Given the description of an element on the screen output the (x, y) to click on. 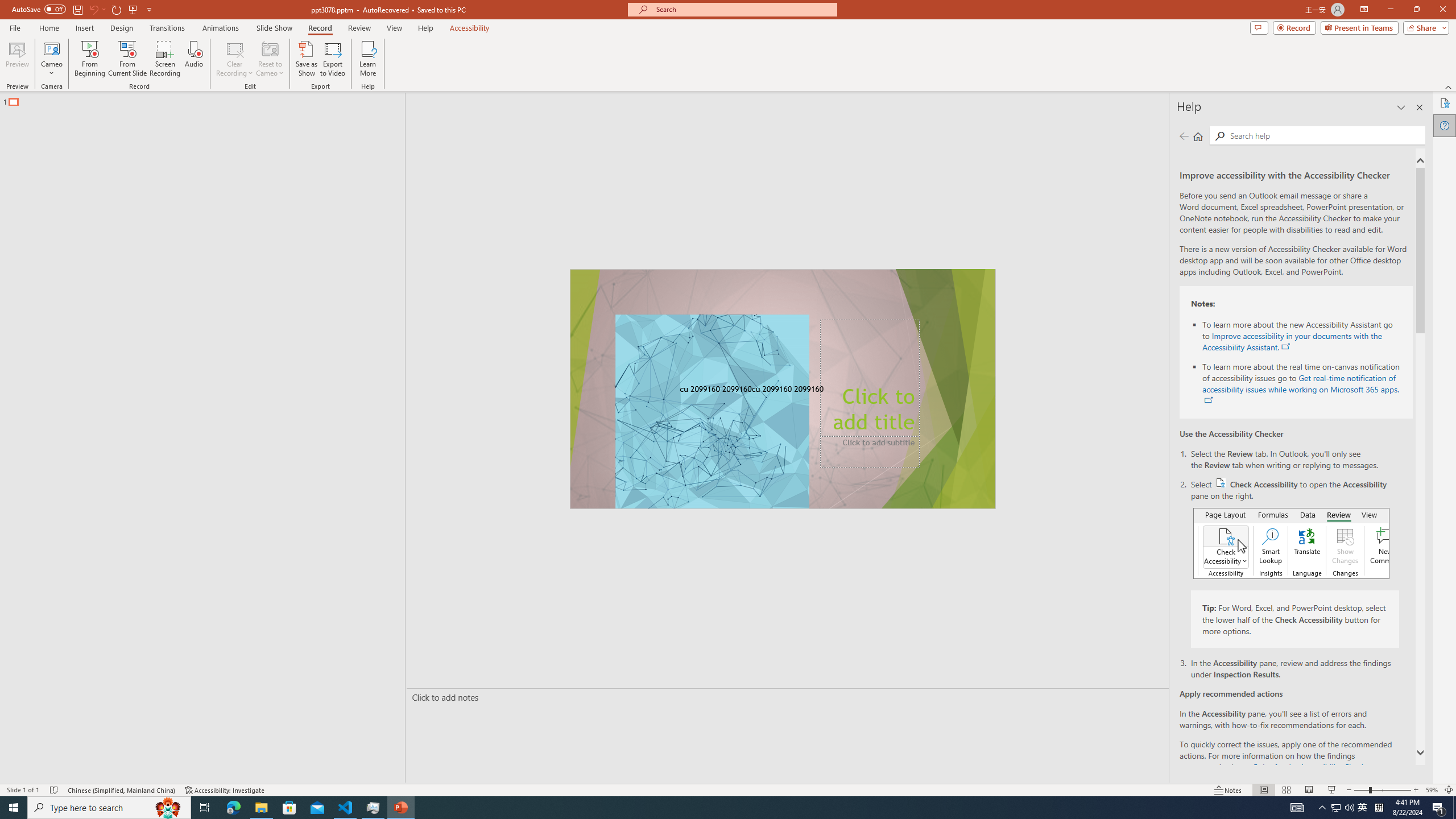
Symbol-llm-v2.pdf (1275, 102)
Visual Studio 2022 (32, 260)
Something.md (1405, 557)
test.py (163, 632)
Xftp 7 (98, 405)
2404.05719v1.pdf (1405, 254)
